Given the description of an element on the screen output the (x, y) to click on. 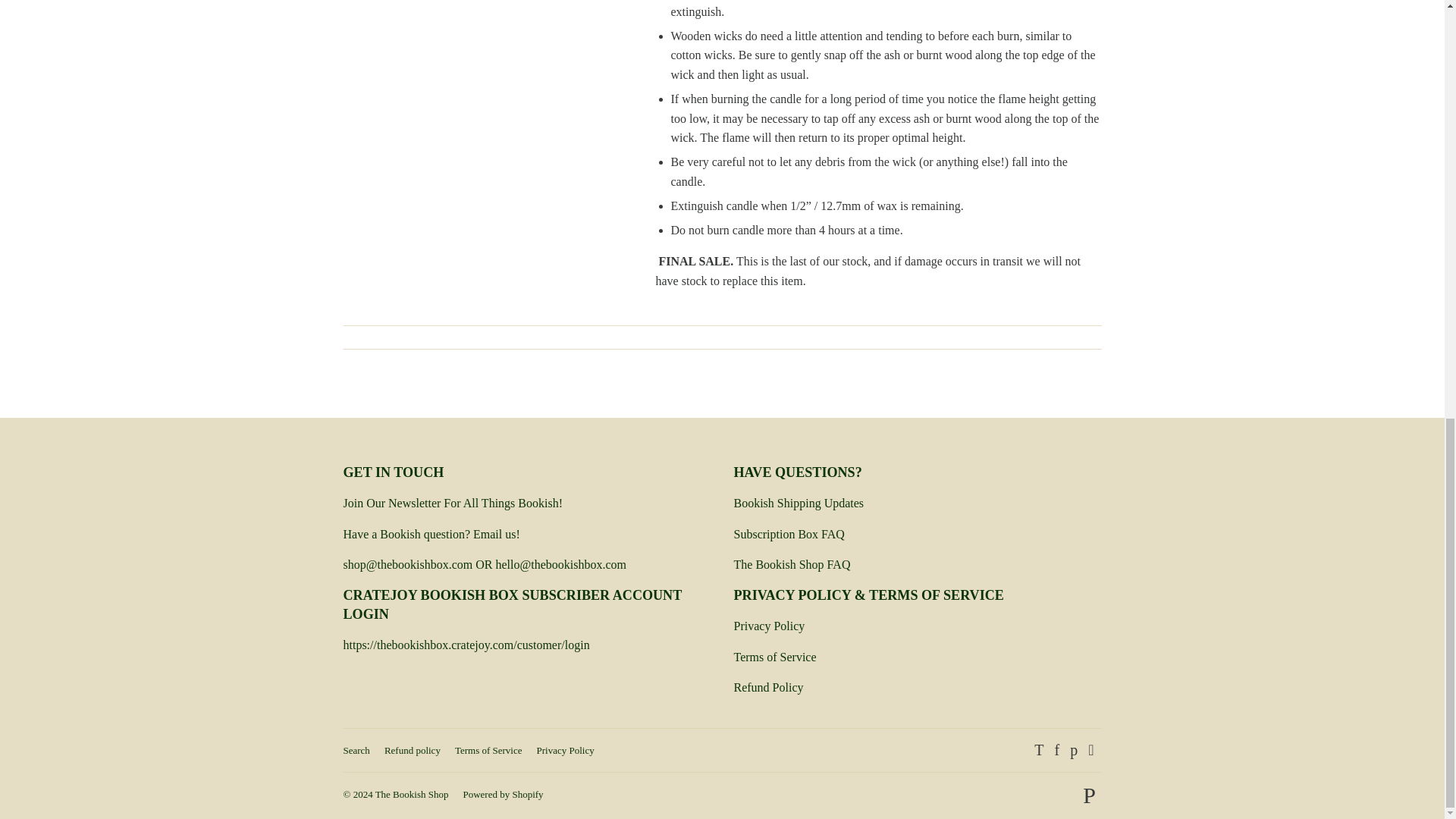
Terms of Service (774, 656)
The Bookish Shop  on Pinterest (1073, 750)
Bookish Shop FAQ Page (791, 563)
The Bookish Shop  on Twitter (1038, 750)
The Bookish Shop  on Facebook (1056, 750)
Shipping Updates Page (798, 502)
The Bookish Shop  on Instagram (1090, 750)
